Given the description of an element on the screen output the (x, y) to click on. 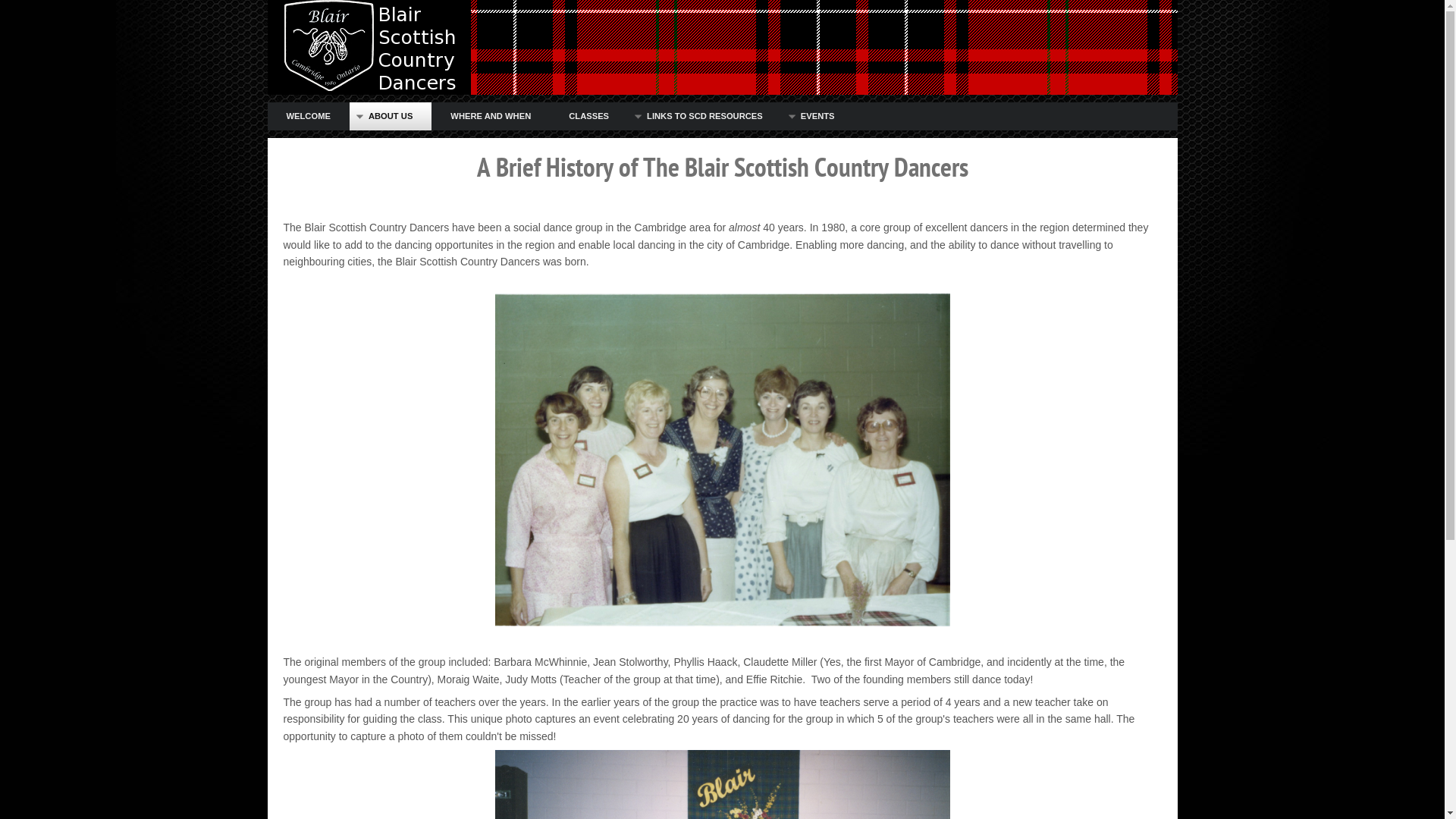
ABOUT US Element type: text (390, 116)
CLASSES Element type: text (588, 116)
EVENTS Element type: text (817, 116)
LINKS TO SCD RESOURCES Element type: text (704, 116)
WELCOME Element type: text (307, 116)
WHERE AND WHEN Element type: text (490, 116)
